Given the description of an element on the screen output the (x, y) to click on. 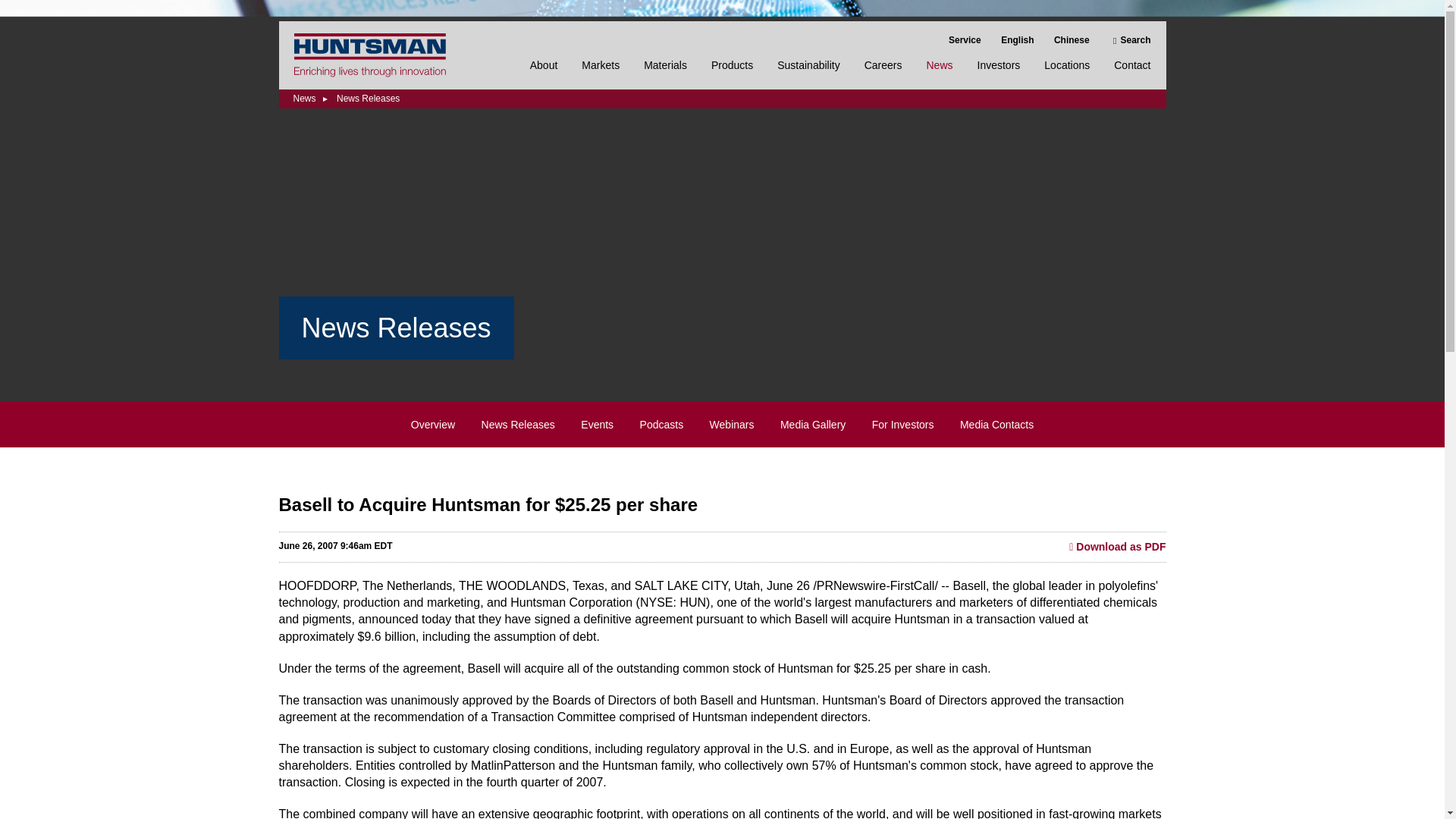
Materials (664, 73)
Sustainability (808, 73)
About (544, 73)
Markets (600, 73)
Search (1129, 40)
Chinese (1071, 40)
Products (731, 73)
English (1017, 40)
Service (965, 40)
